Given the description of an element on the screen output the (x, y) to click on. 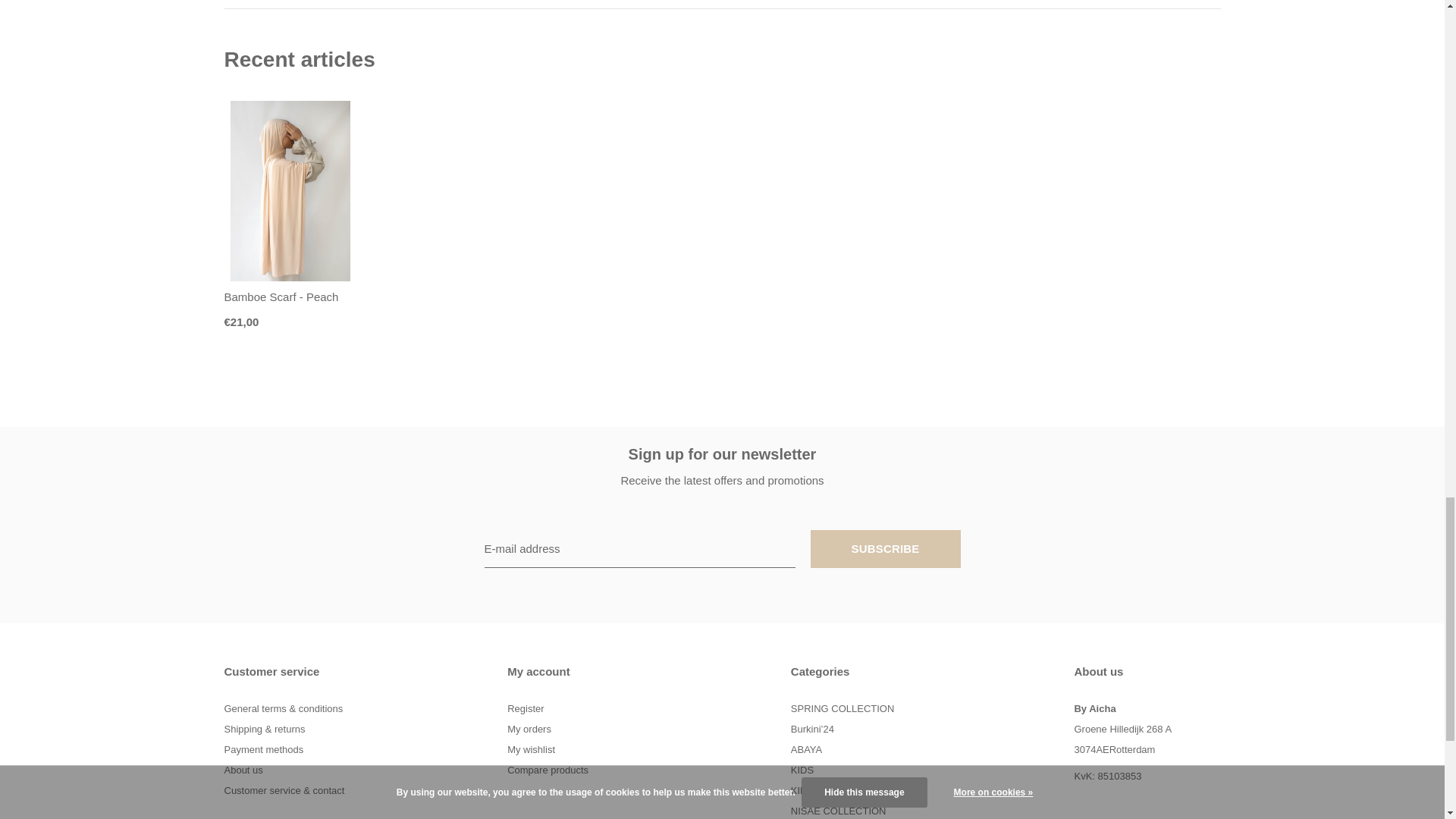
Register (524, 708)
My wishlist (530, 749)
My orders (528, 728)
